Given the description of an element on the screen output the (x, y) to click on. 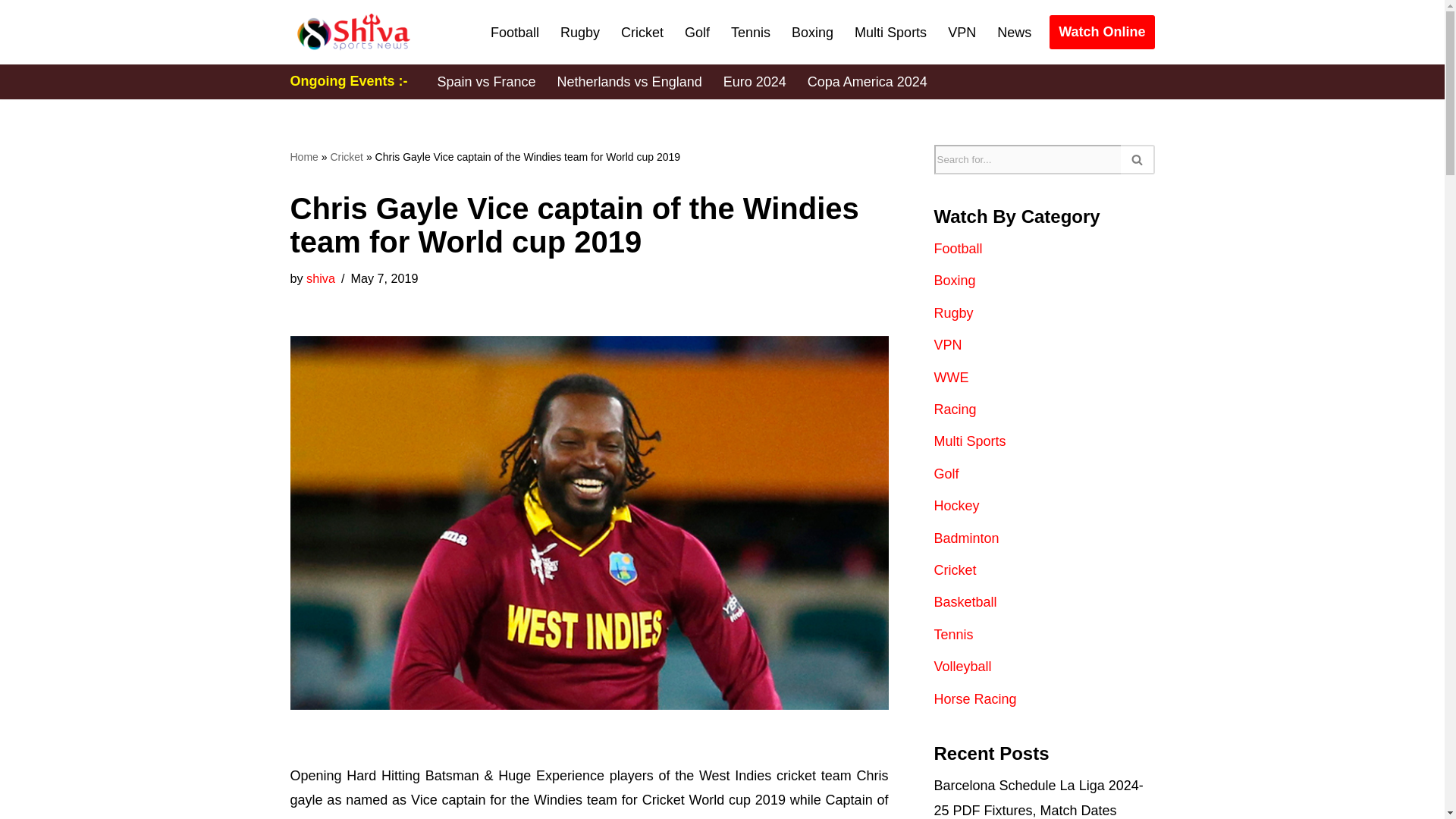
Skip to content (11, 31)
Cricket (346, 156)
Watch Online (1101, 32)
shiva (319, 278)
Multi Sports (890, 32)
Home (303, 156)
Posts by shiva (319, 278)
Spain vs France (485, 81)
Copa America 2024 (867, 81)
Golf (697, 32)
Football (514, 32)
Rugby (579, 32)
News (1013, 32)
VPN (961, 32)
Cricket (642, 32)
